Given the description of an element on the screen output the (x, y) to click on. 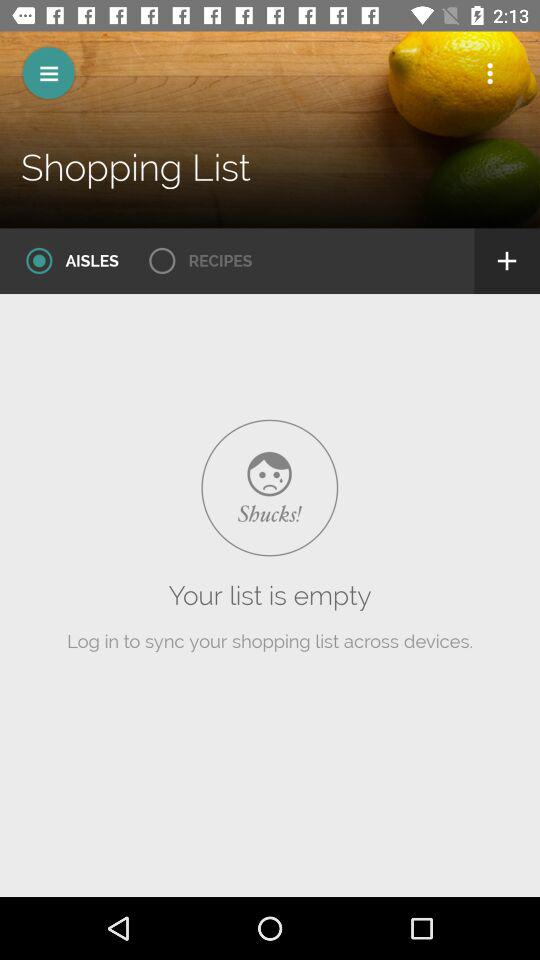
search aisles (65, 261)
